Given the description of an element on the screen output the (x, y) to click on. 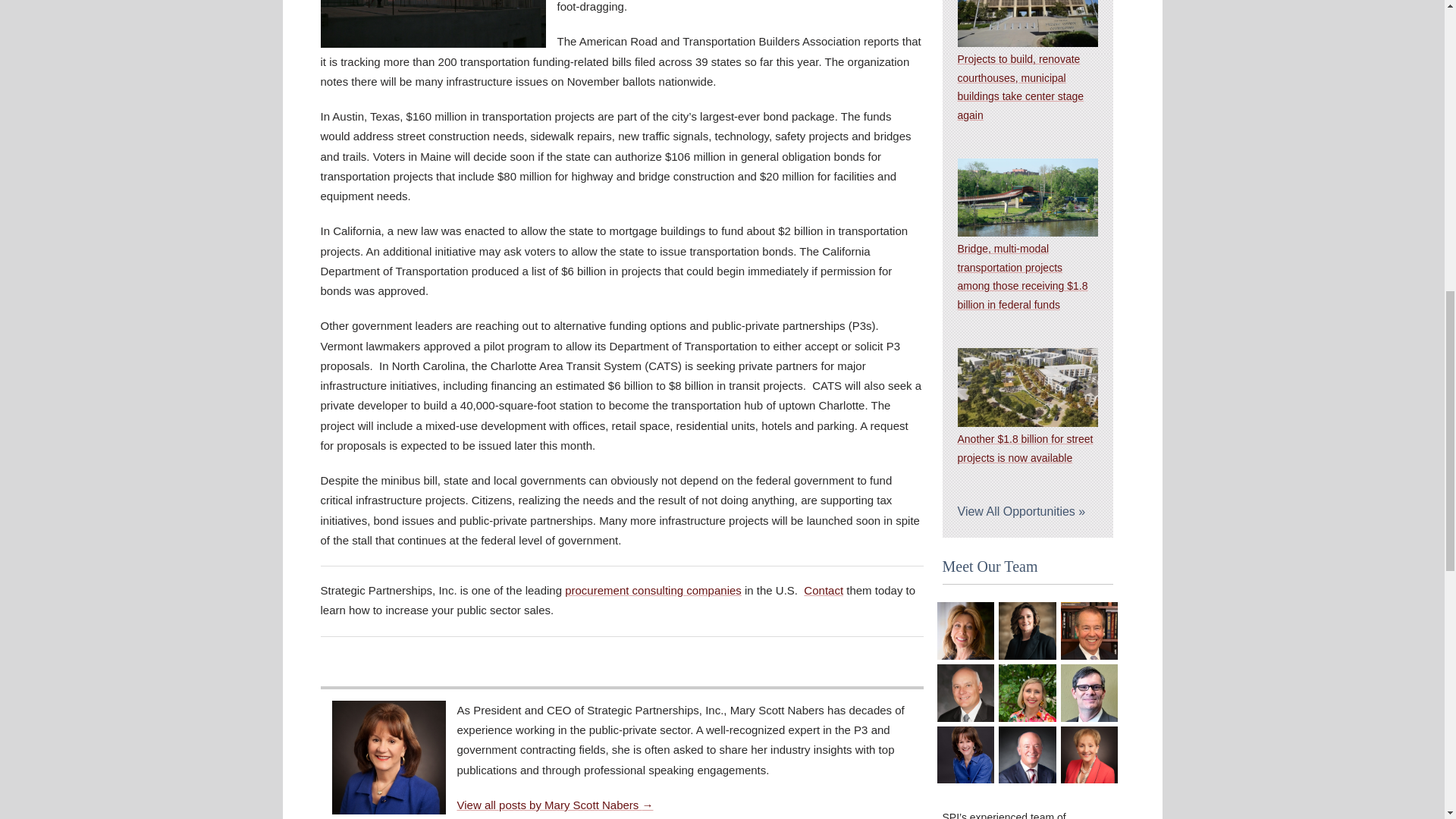
Metha-Vasquez-250x250 photo (1027, 630)
heights-rendering-1024x576-1-300x169 photo (1026, 387)
 photo (965, 630)
headshot1-250x250 photo (1027, 692)
MSN-HEADSHOT-250x250 photo (965, 754)
Contact (823, 590)
DuBus-250x250 photo (1089, 692)
Picture1-250x250 photo (1089, 630)
procurement consulting companies (652, 590)
Kent-250x250 photo (1027, 754)
Coppola-pic-250x250 photo (965, 692)
 photo (1026, 23)
